Given the description of an element on the screen output the (x, y) to click on. 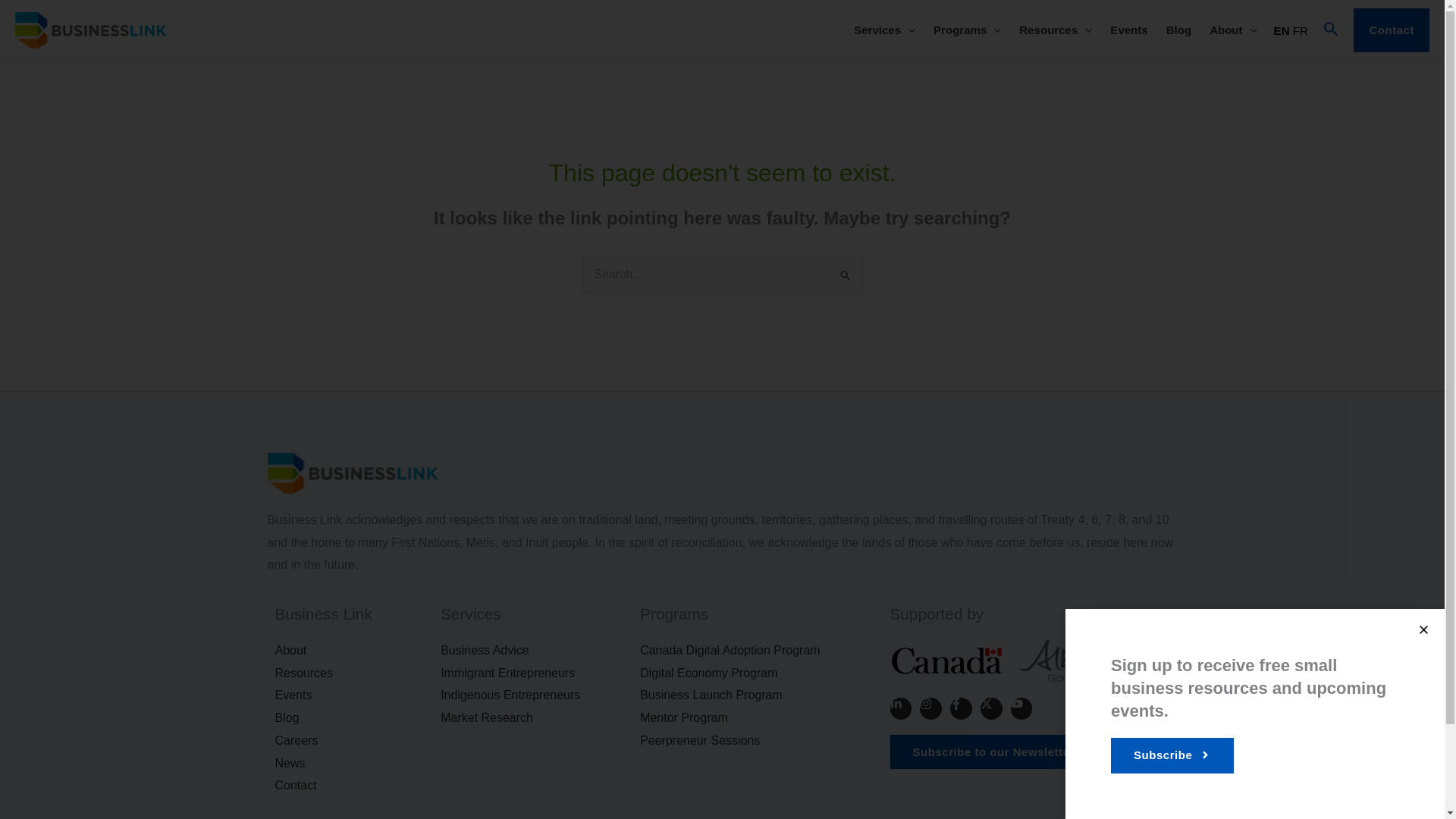
Resources (1055, 30)
Events (1128, 30)
French (1299, 30)
Contact (1391, 30)
Programs (967, 30)
Services (884, 30)
English (1282, 30)
FR (1299, 30)
EN (1282, 30)
About (1232, 30)
